Given the description of an element on the screen output the (x, y) to click on. 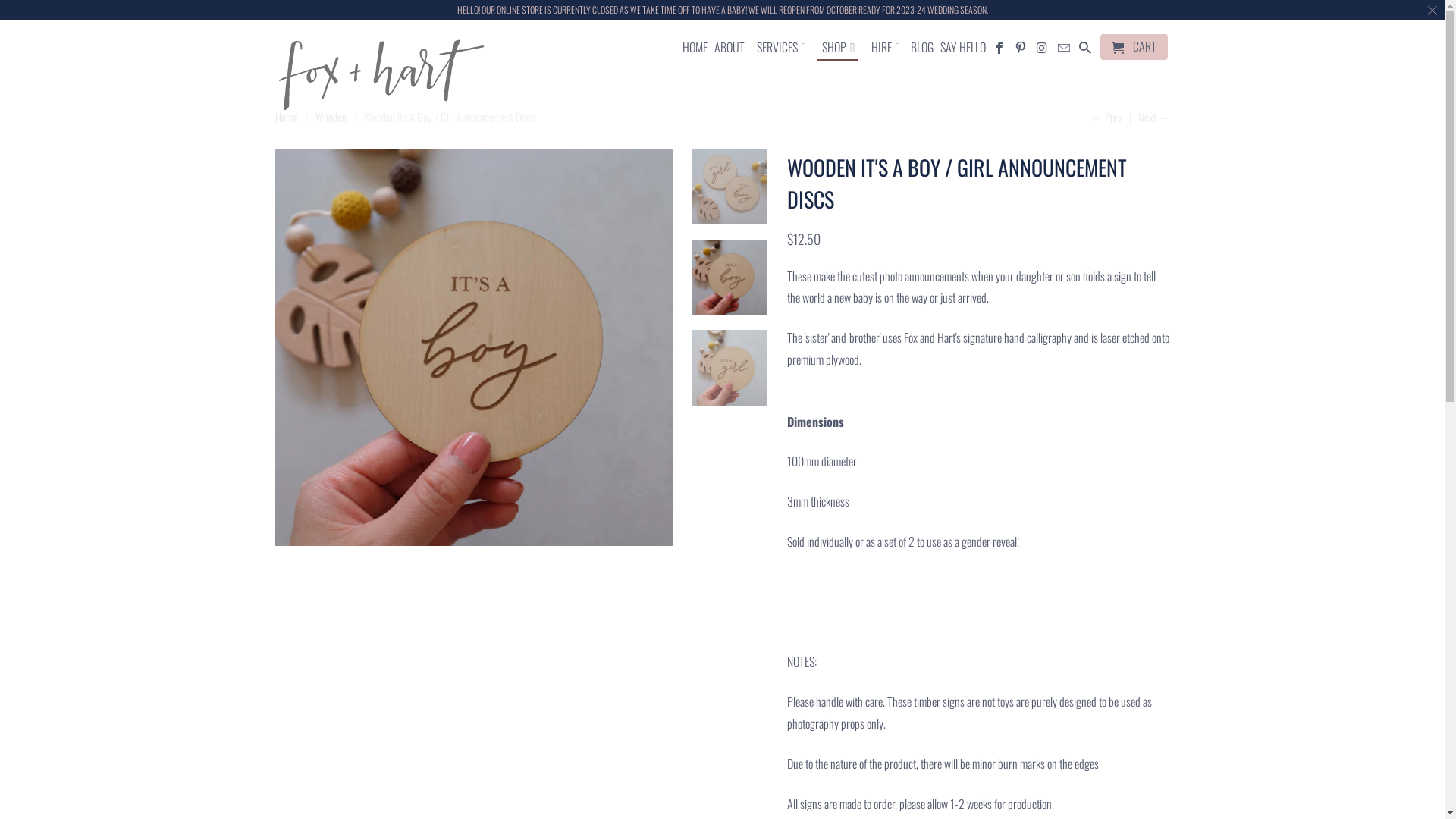
Wooden Element type: text (330, 116)
Wooden It's A Boy / Girl Announcement Discs Element type: hover (472, 347)
BLOG Element type: text (921, 49)
Fox and Hart on Pinterest Element type: hover (1021, 49)
ABOUT Element type: text (729, 49)
HOME Element type: text (694, 49)
Home Element type: text (285, 116)
Fox and Hart on Instagram Element type: hover (1042, 49)
Email Fox and Hart Element type: hover (1064, 49)
Search Element type: hover (1086, 49)
Fox and Hart on Facebook Element type: hover (999, 49)
SAY HELLO Element type: text (962, 49)
CART Element type: text (1133, 46)
Fox and Hart Element type: hover (380, 76)
